Given the description of an element on the screen output the (x, y) to click on. 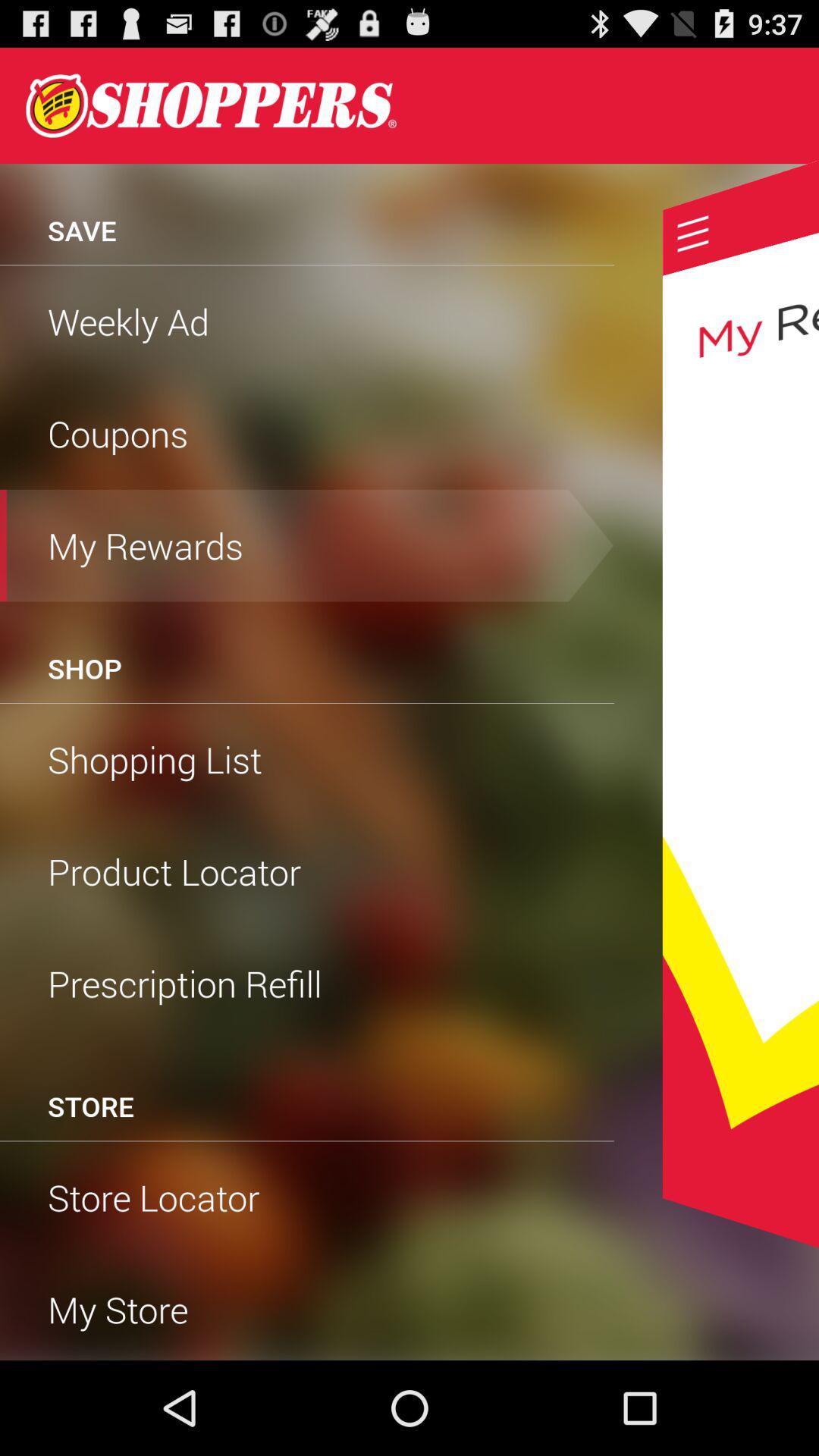
view settings (692, 233)
